Given the description of an element on the screen output the (x, y) to click on. 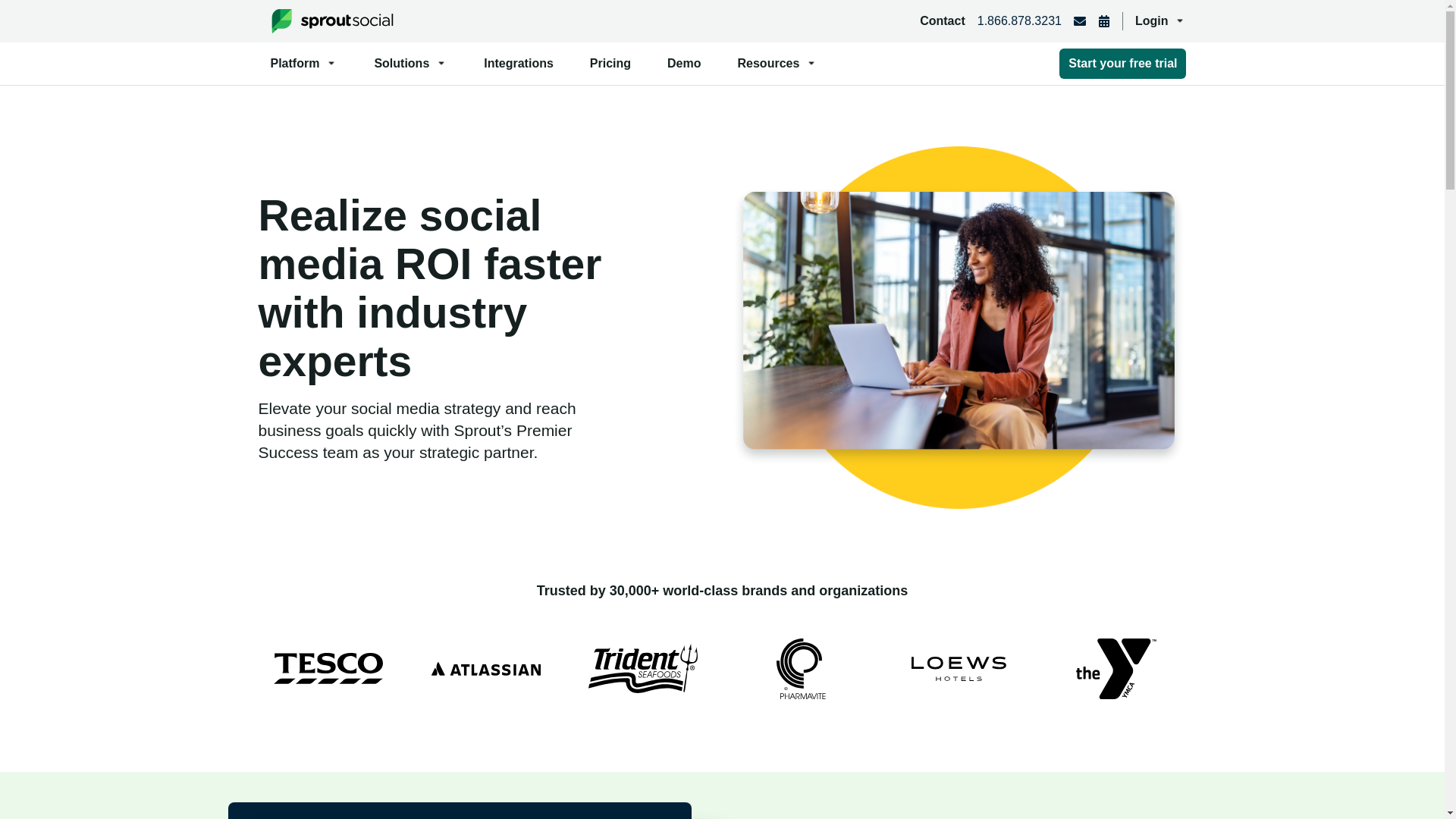
Integrations (518, 63)
Pricing (610, 63)
Solutions (410, 63)
Email Sprout Social (1080, 21)
Login (1160, 21)
Platform (303, 63)
Call Sprout Support (1018, 21)
Open Platform Menu (303, 63)
Schedule a demo (1103, 21)
Open Login Menu (1160, 21)
1.866.878.3231 (1018, 21)
Open Resources Menu (777, 63)
Sprout Social (331, 21)
Open Solutions Menu (410, 63)
